Given the description of an element on the screen output the (x, y) to click on. 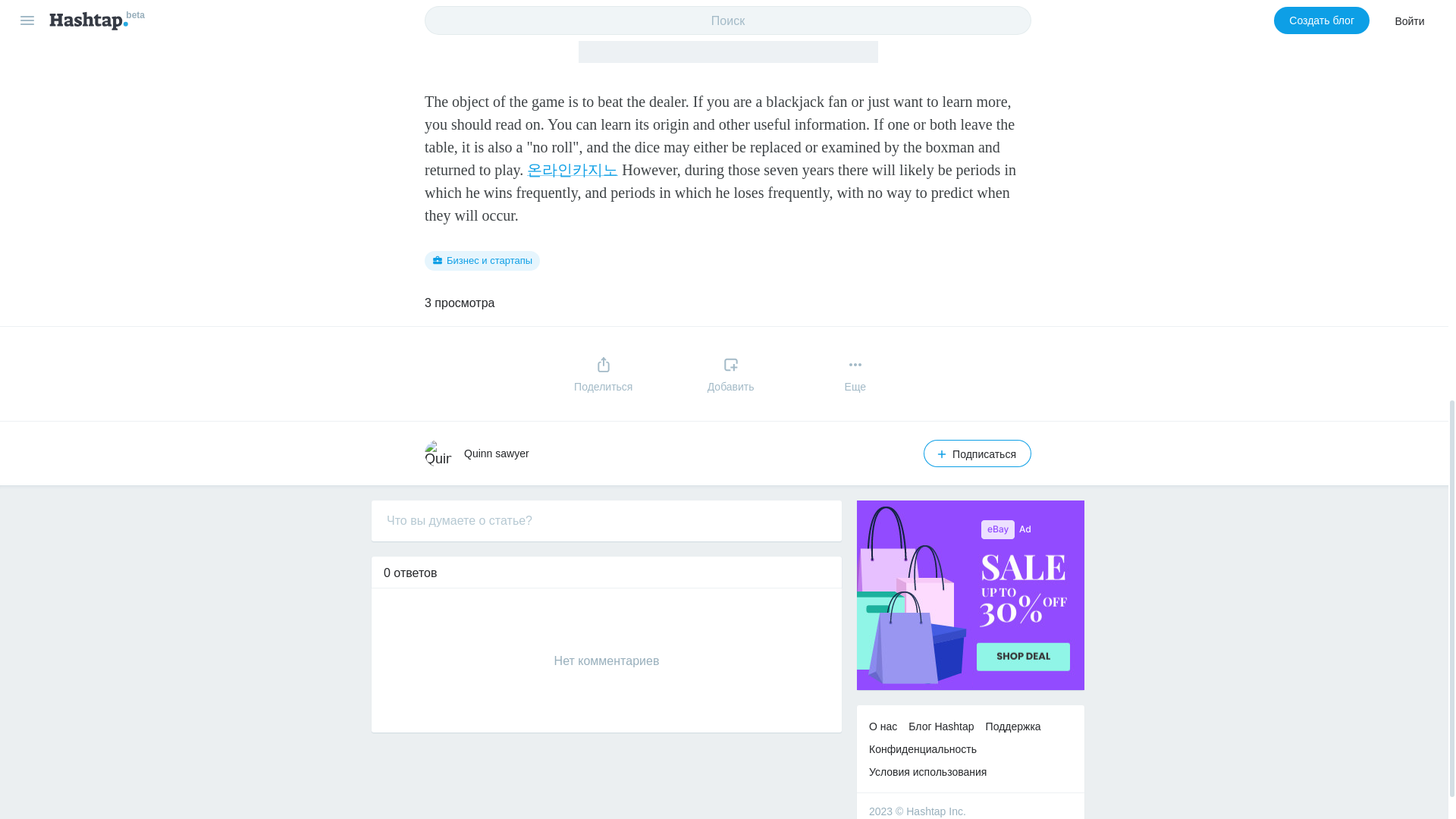
Quinn sawyer (496, 453)
Q (438, 452)
